Given the description of an element on the screen output the (x, y) to click on. 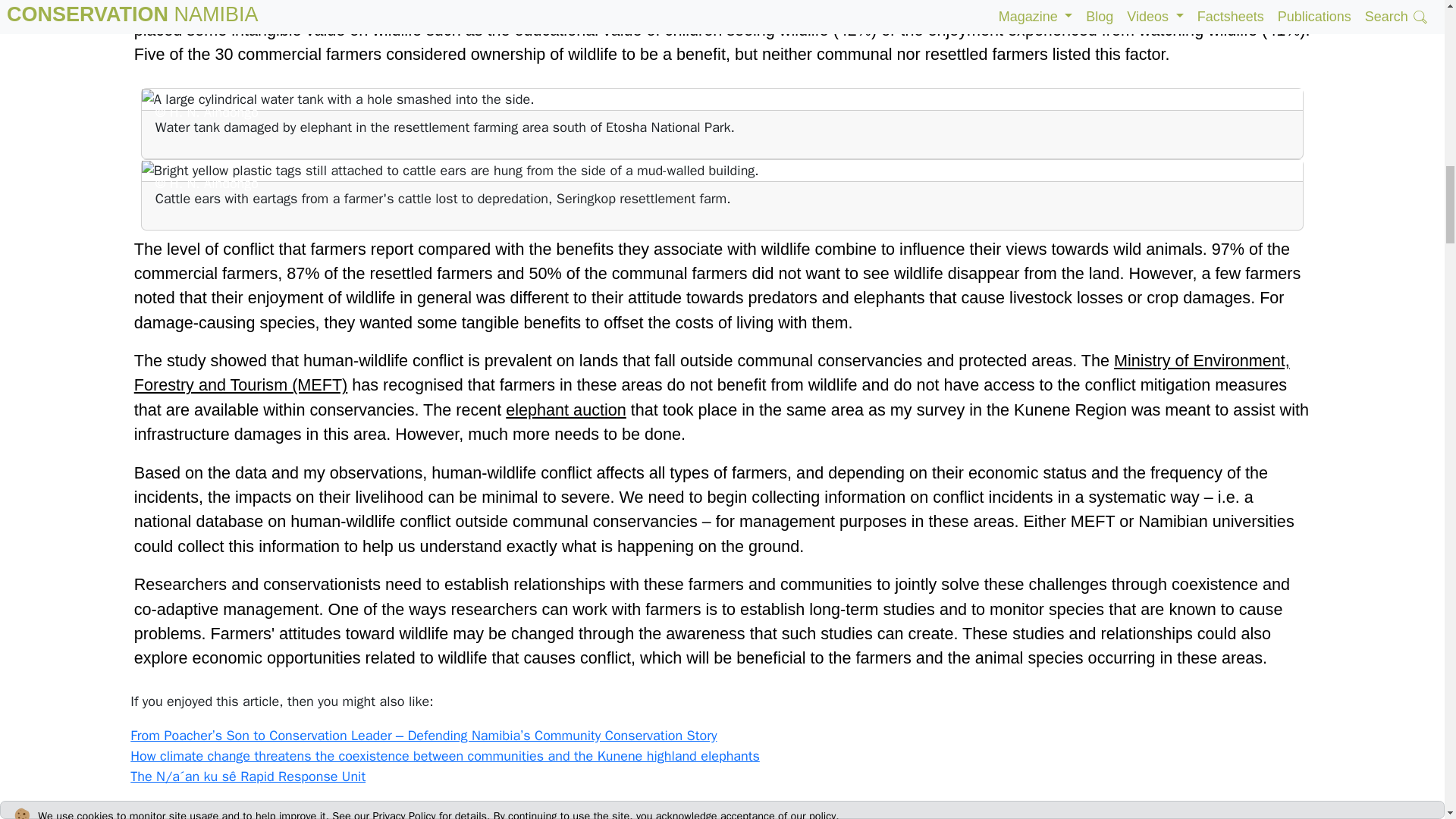
elephant auction (565, 409)
